Given the description of an element on the screen output the (x, y) to click on. 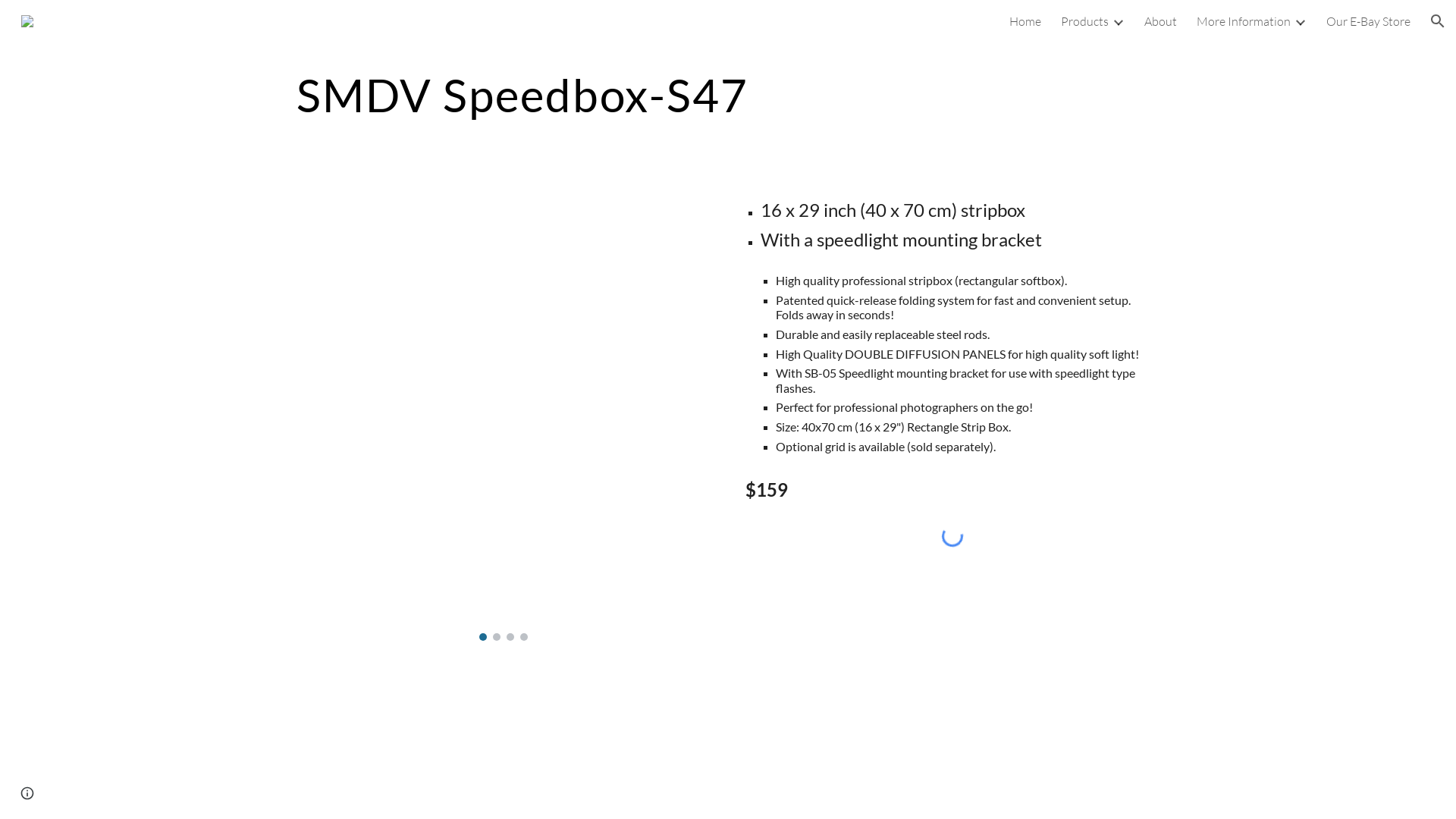
Expand/Collapse Element type: hover (1117, 20)
Expand/Collapse Element type: hover (1299, 20)
Our E-Bay Store Element type: text (1368, 20)
More Information Element type: text (1243, 20)
Products Element type: text (1084, 20)
About Element type: text (1160, 20)
Home Element type: text (1025, 20)
Custom embed Element type: hover (952, 535)
